Given the description of an element on the screen output the (x, y) to click on. 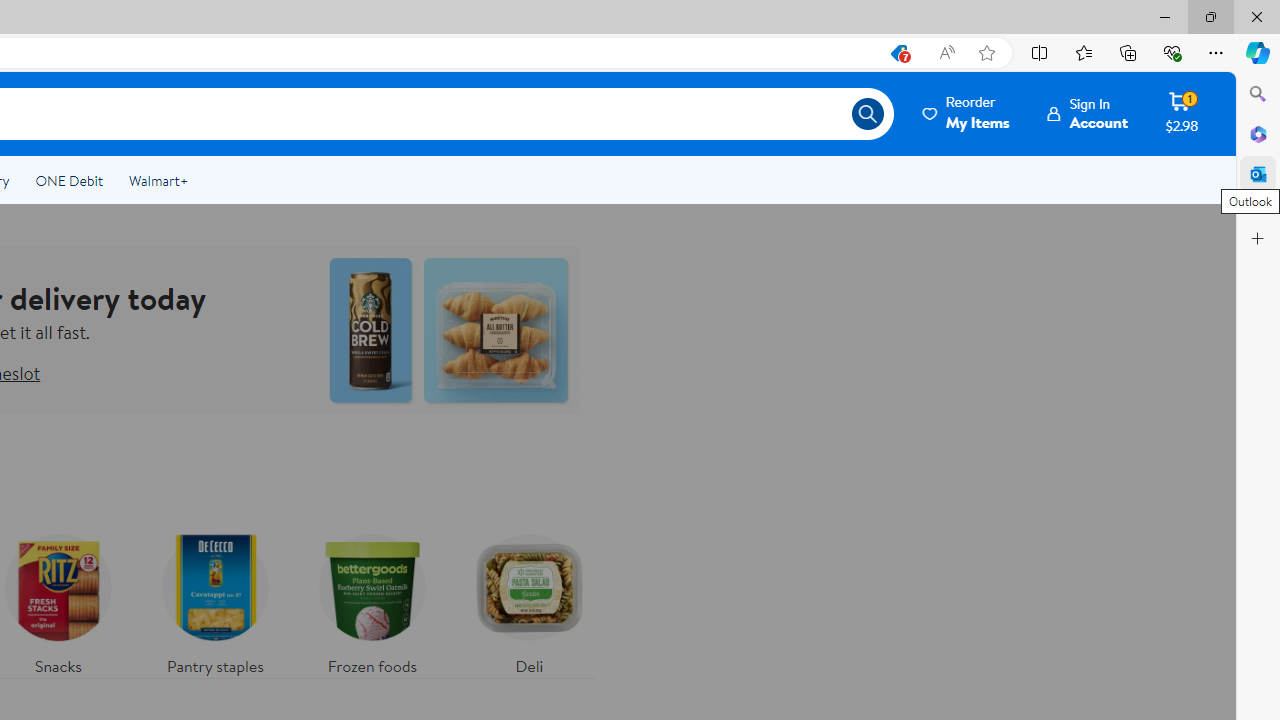
Walmart+ (158, 180)
ReorderMy Items (967, 113)
ONE Debit (68, 180)
Frozen foods (371, 599)
Pantry staples (214, 599)
Deli (529, 599)
Reorder My Items (967, 113)
Search icon (867, 113)
